Given the description of an element on the screen output the (x, y) to click on. 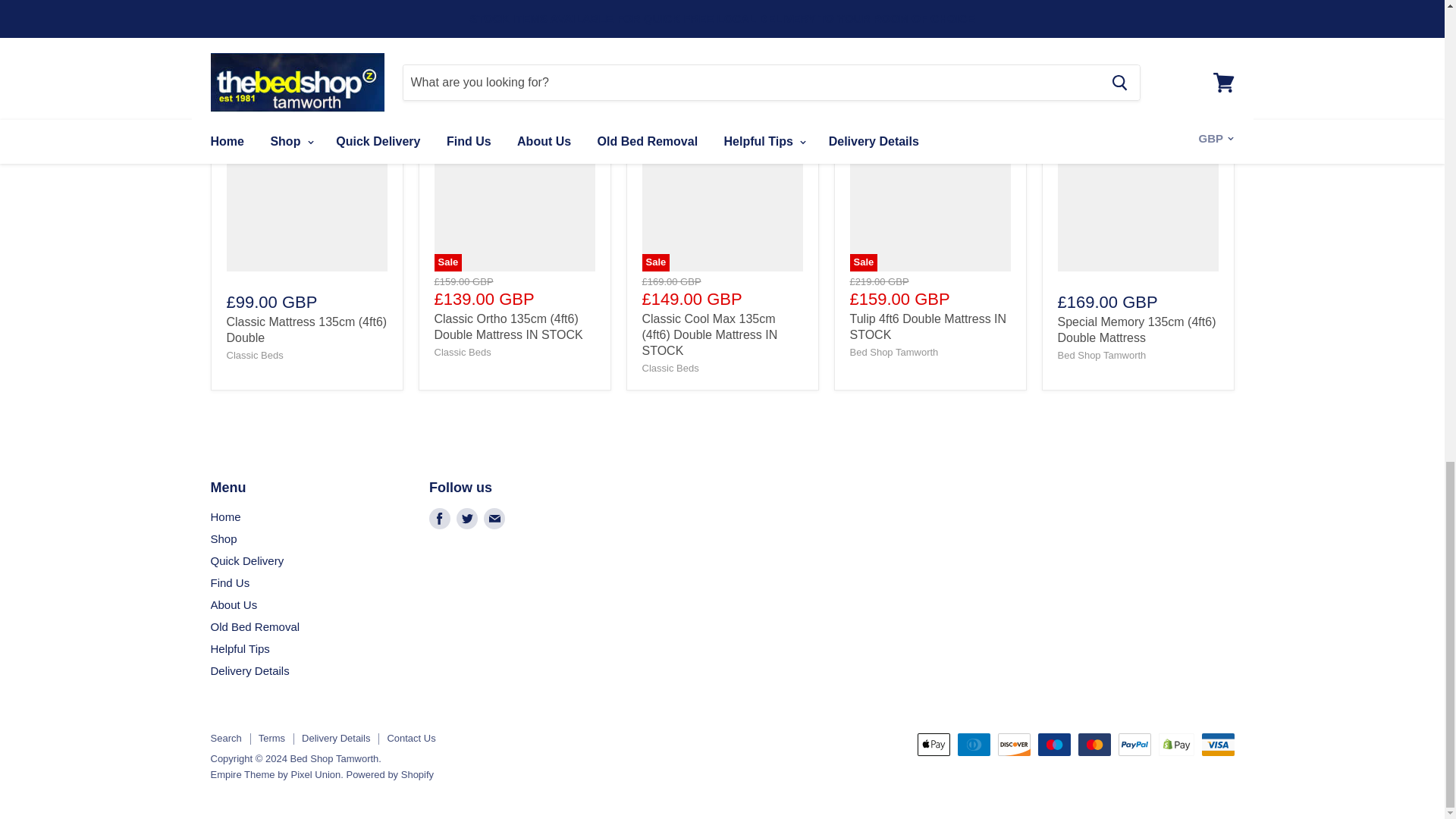
E-mail (494, 518)
Facebook (439, 518)
Twitter (466, 518)
